Given the description of an element on the screen output the (x, y) to click on. 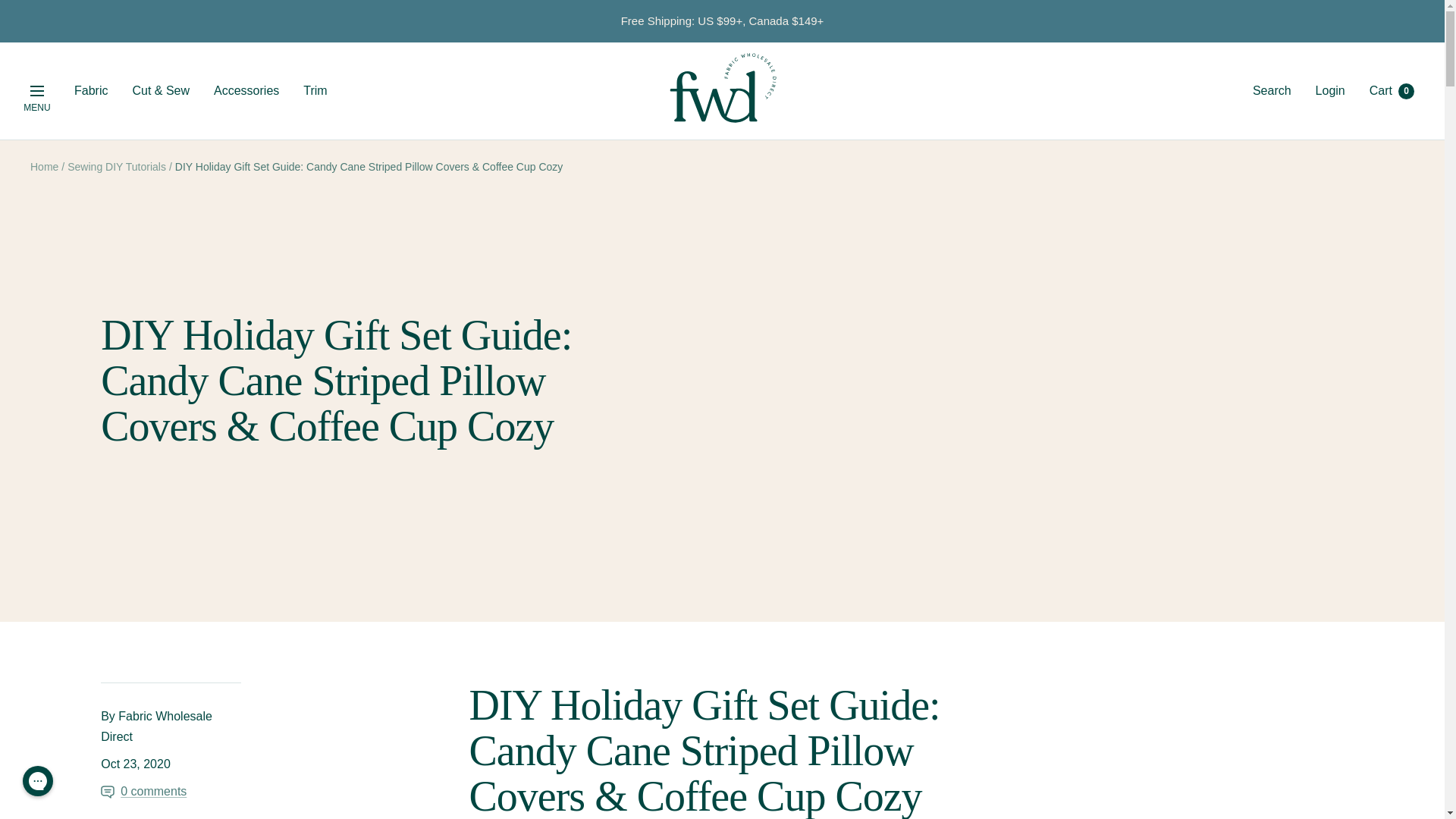
Search (1271, 90)
Sewing DIY Tutorials (115, 166)
Fabric (90, 90)
Home (44, 166)
Accessories (36, 90)
Trim (246, 90)
0 comments (314, 90)
Login (1391, 90)
